Given the description of an element on the screen output the (x, y) to click on. 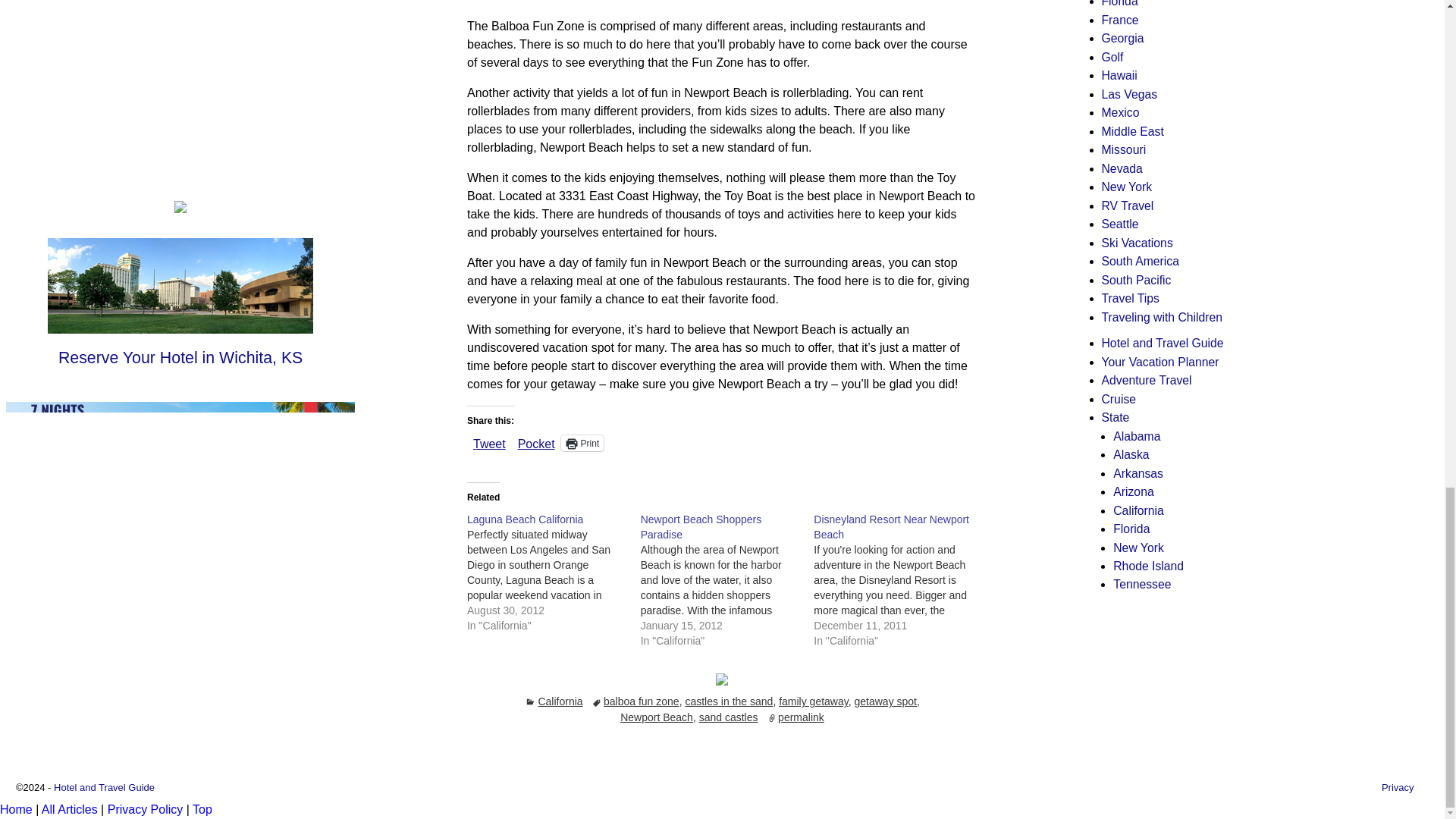
permalink (800, 717)
Laguna Beach California (553, 572)
Disneyland Resort Near Newport Beach (891, 526)
sand castles (728, 717)
Laguna Beach California (525, 519)
castles in the sand (728, 701)
Newport Beach Shoppers Paradise (726, 579)
family getaway (813, 701)
Disneyland Resort Near Newport Beach (900, 579)
Permalink to Family Fun In Newport Beach (800, 717)
